Given the description of an element on the screen output the (x, y) to click on. 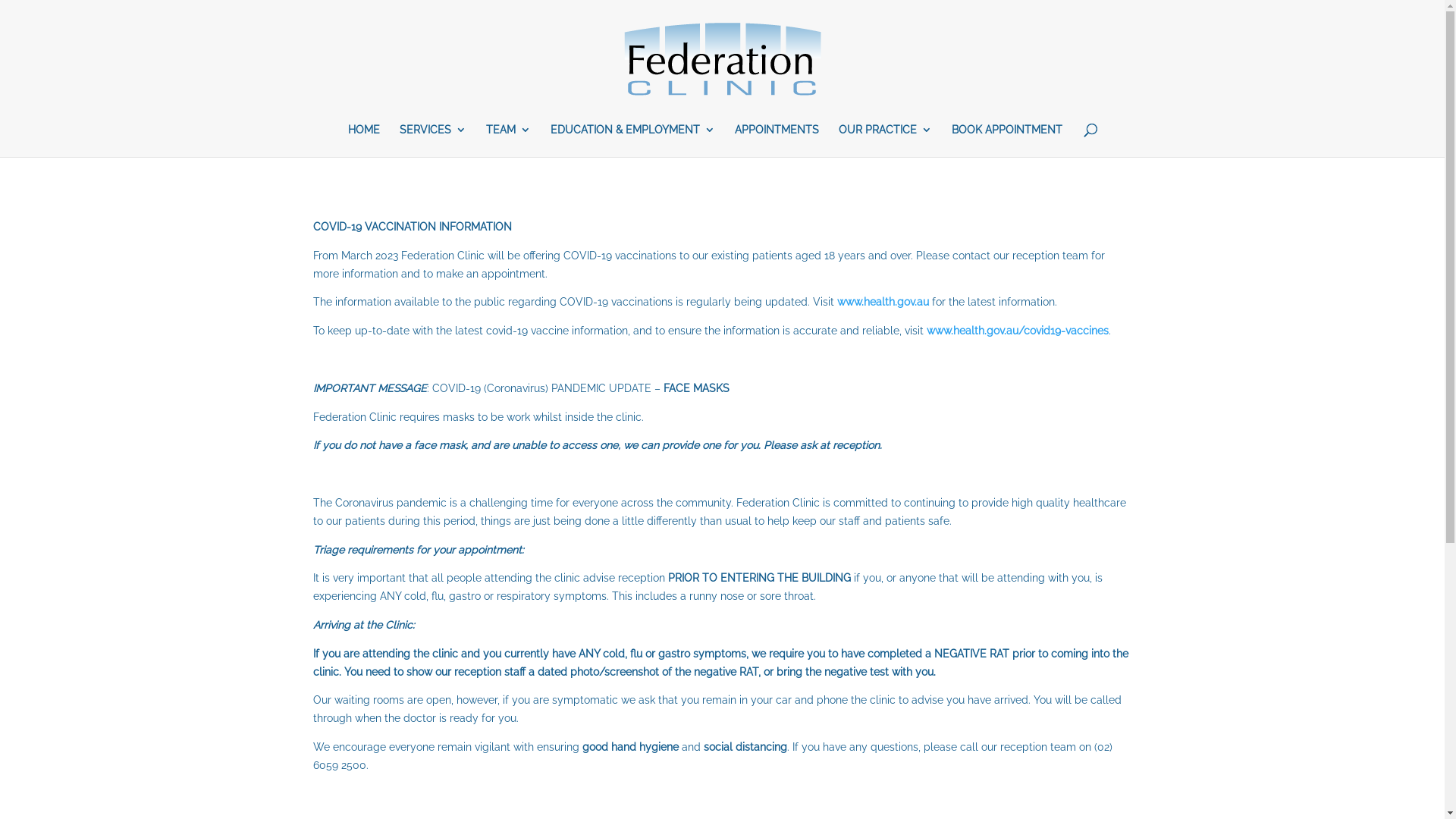
APPOINTMENTS Element type: text (776, 140)
www.health.gov.au/covid19-vaccines Element type: text (1017, 330)
SERVICES Element type: text (431, 140)
EDUCATION & EMPLOYMENT Element type: text (632, 140)
HOME Element type: text (363, 140)
TEAM Element type: text (507, 140)
BOOK APPOINTMENT Element type: text (1005, 140)
OUR PRACTICE Element type: text (884, 140)
www.health.gov.au Element type: text (882, 301)
